Given the description of an element on the screen output the (x, y) to click on. 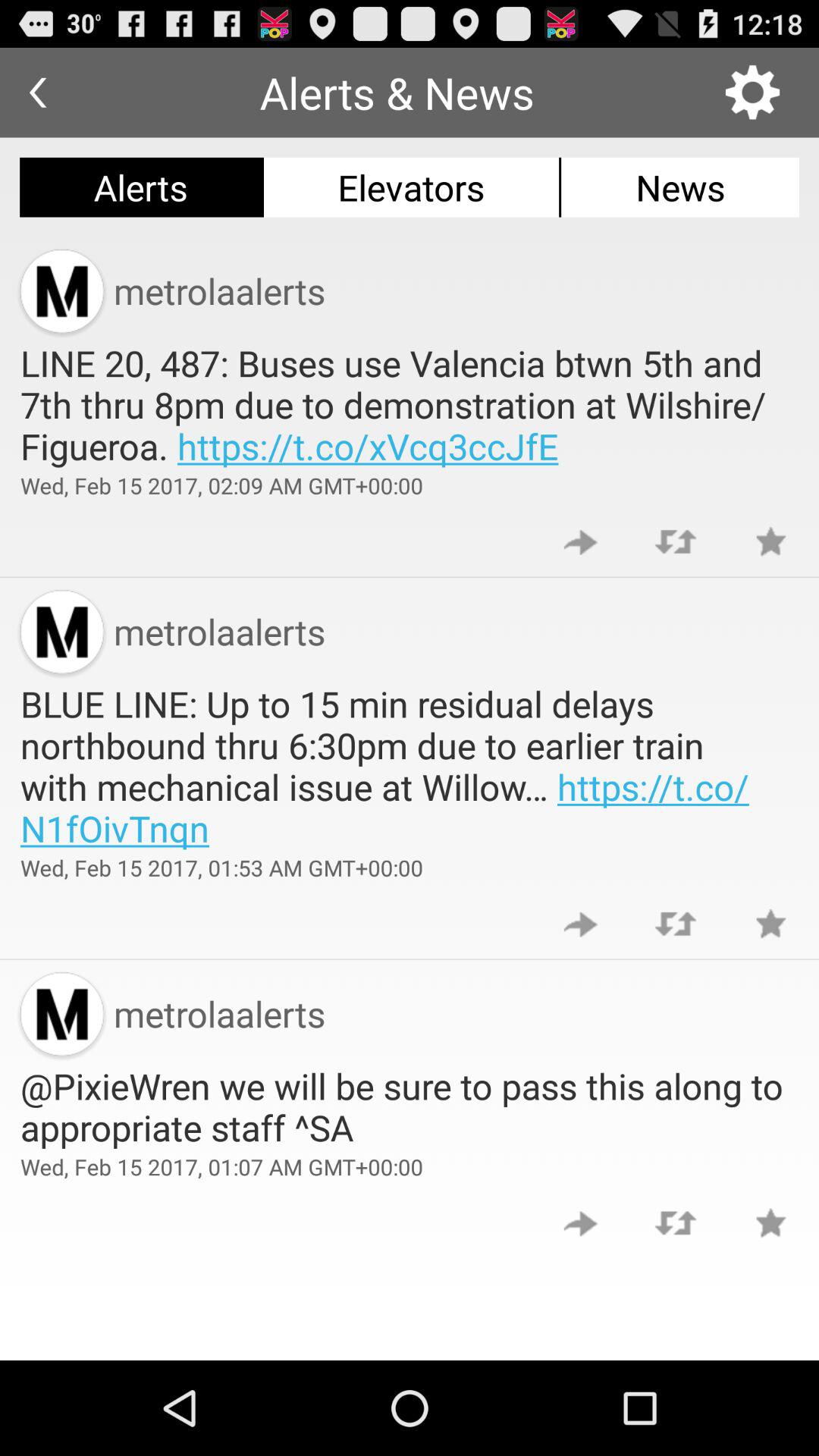
open line 20 487 (409, 404)
